Given the description of an element on the screen output the (x, y) to click on. 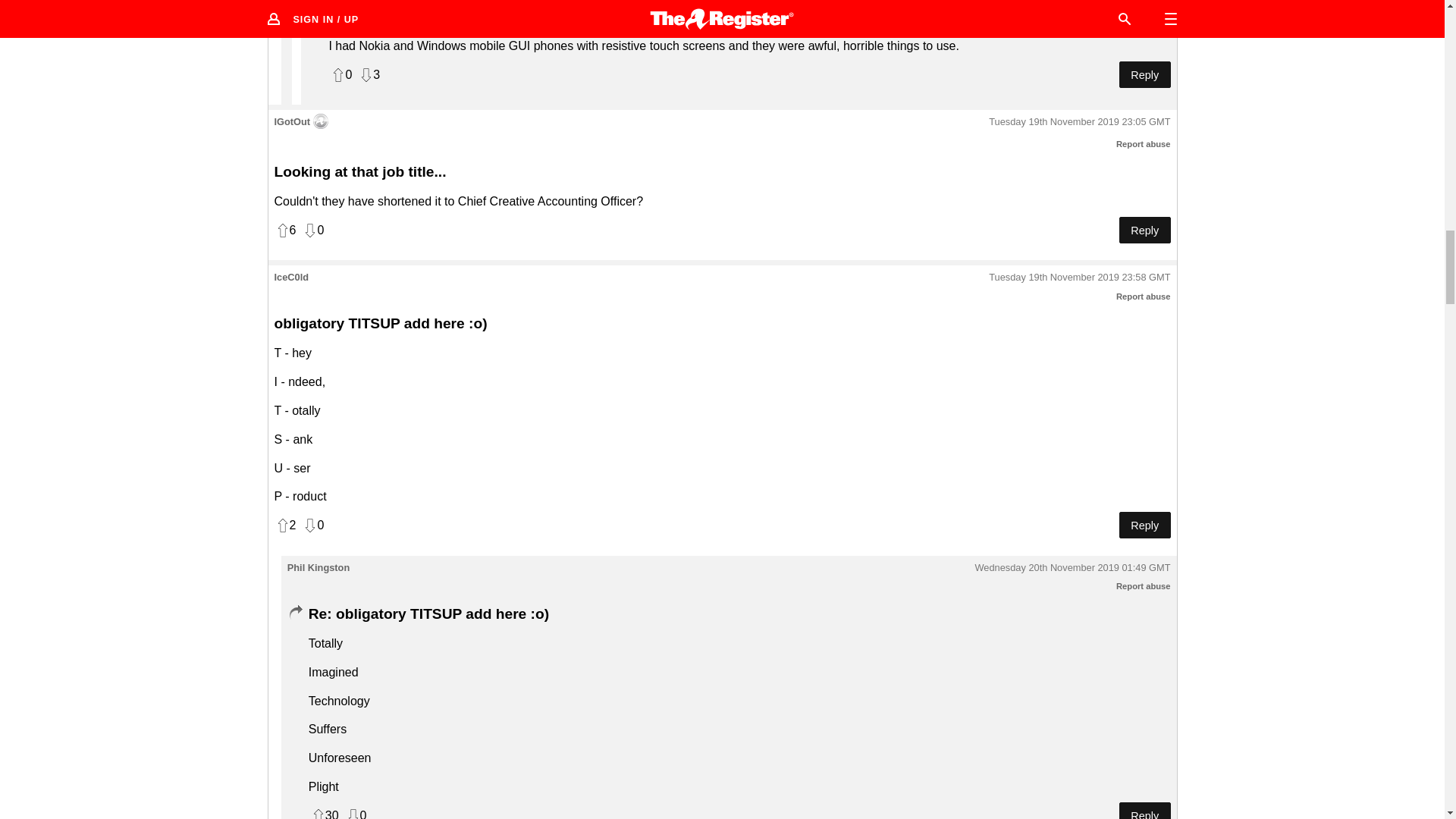
Report abuse (1143, 296)
Report abuse (1143, 585)
Report abuse (1143, 143)
